Given the description of an element on the screen output the (x, y) to click on. 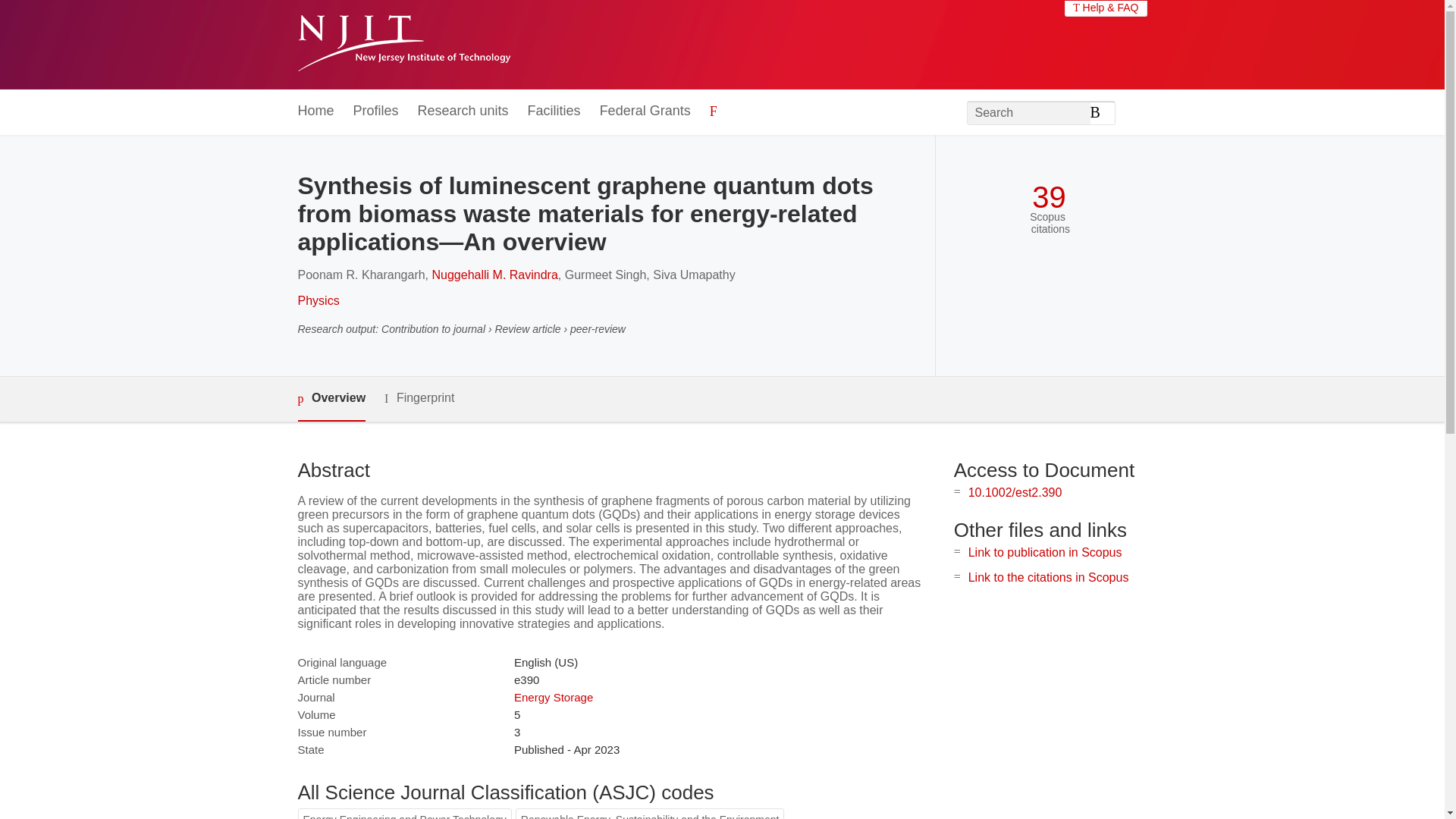
39 (1048, 197)
Overview (331, 398)
Link to the citations in Scopus (1048, 576)
Profiles (375, 111)
Federal Grants (644, 111)
Research units (462, 111)
Energy Storage (552, 697)
Fingerprint (419, 398)
Facilities (553, 111)
Physics (318, 300)
Link to publication in Scopus (1045, 552)
New Jersey Institute of Technology Home (403, 44)
Nuggehalli M. Ravindra (494, 274)
